Given the description of an element on the screen output the (x, y) to click on. 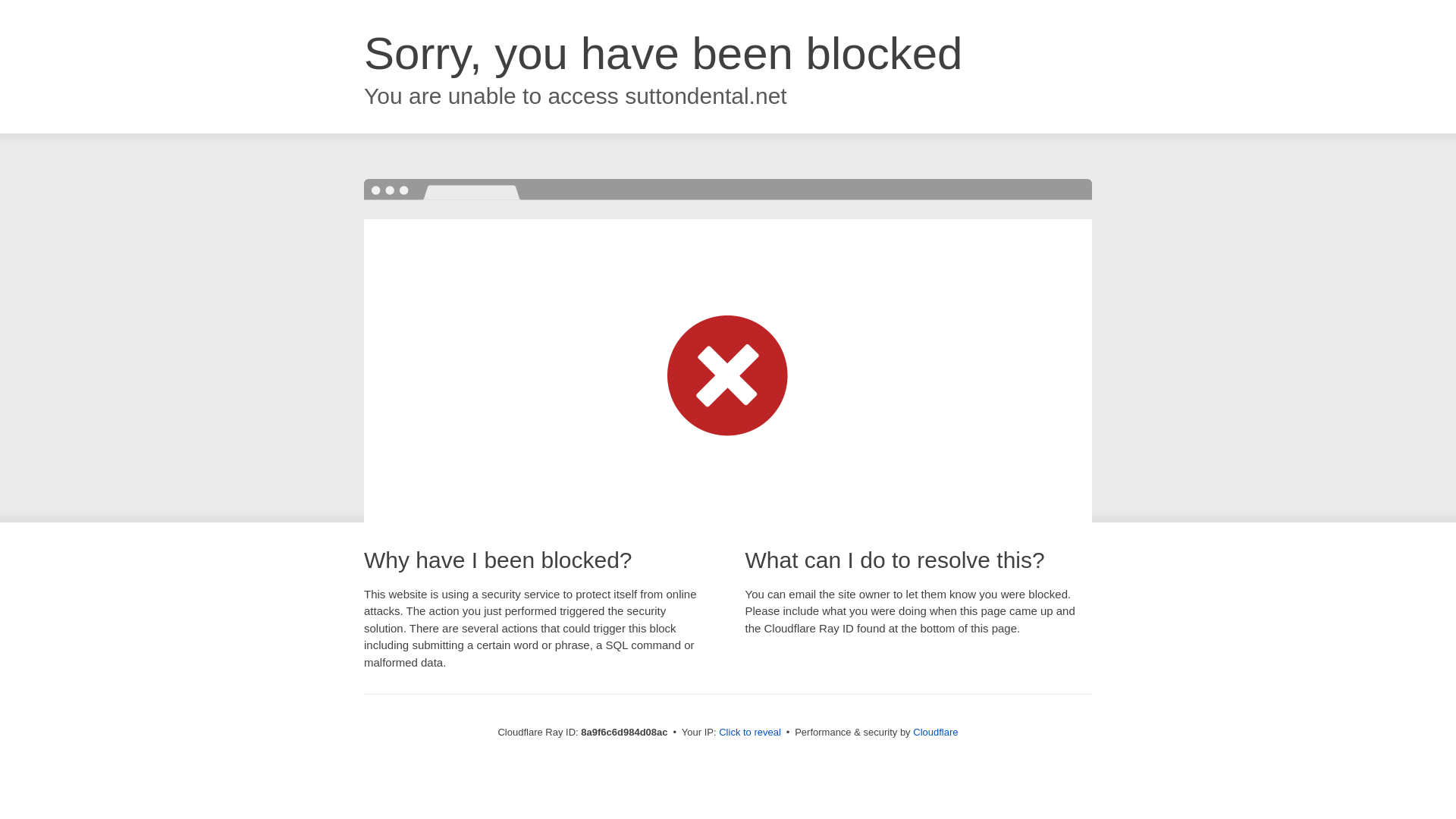
Click to reveal (749, 732)
Cloudflare (935, 731)
